Given the description of an element on the screen output the (x, y) to click on. 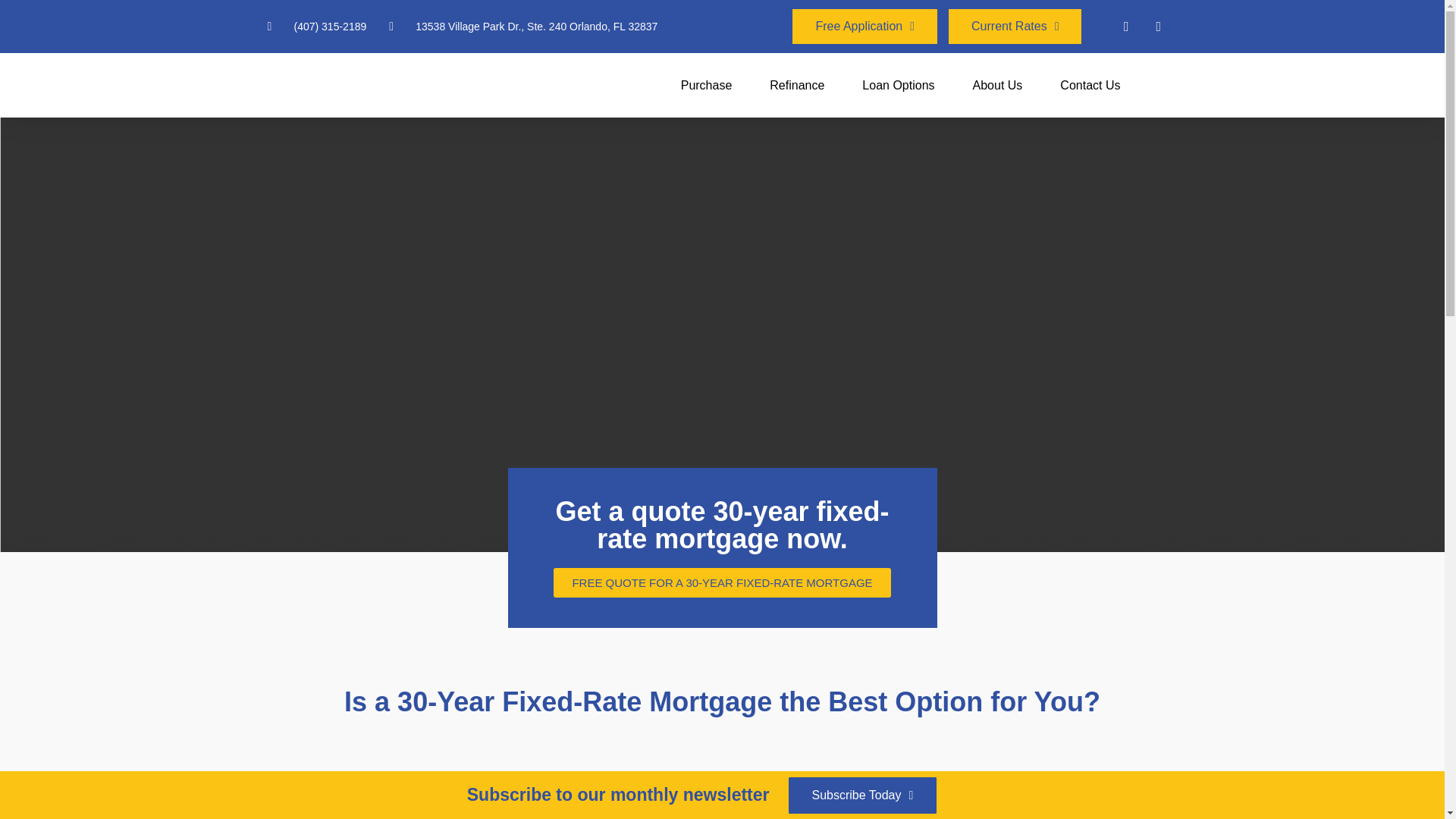
Free Application (864, 26)
Current Rates (1015, 26)
Purchase (706, 85)
Refinance (797, 85)
Loan Options (897, 85)
Contact Us (1089, 85)
pioneer-mortgage-funding-Central-Florida-top (337, 85)
About Us (997, 85)
